Given the description of an element on the screen output the (x, y) to click on. 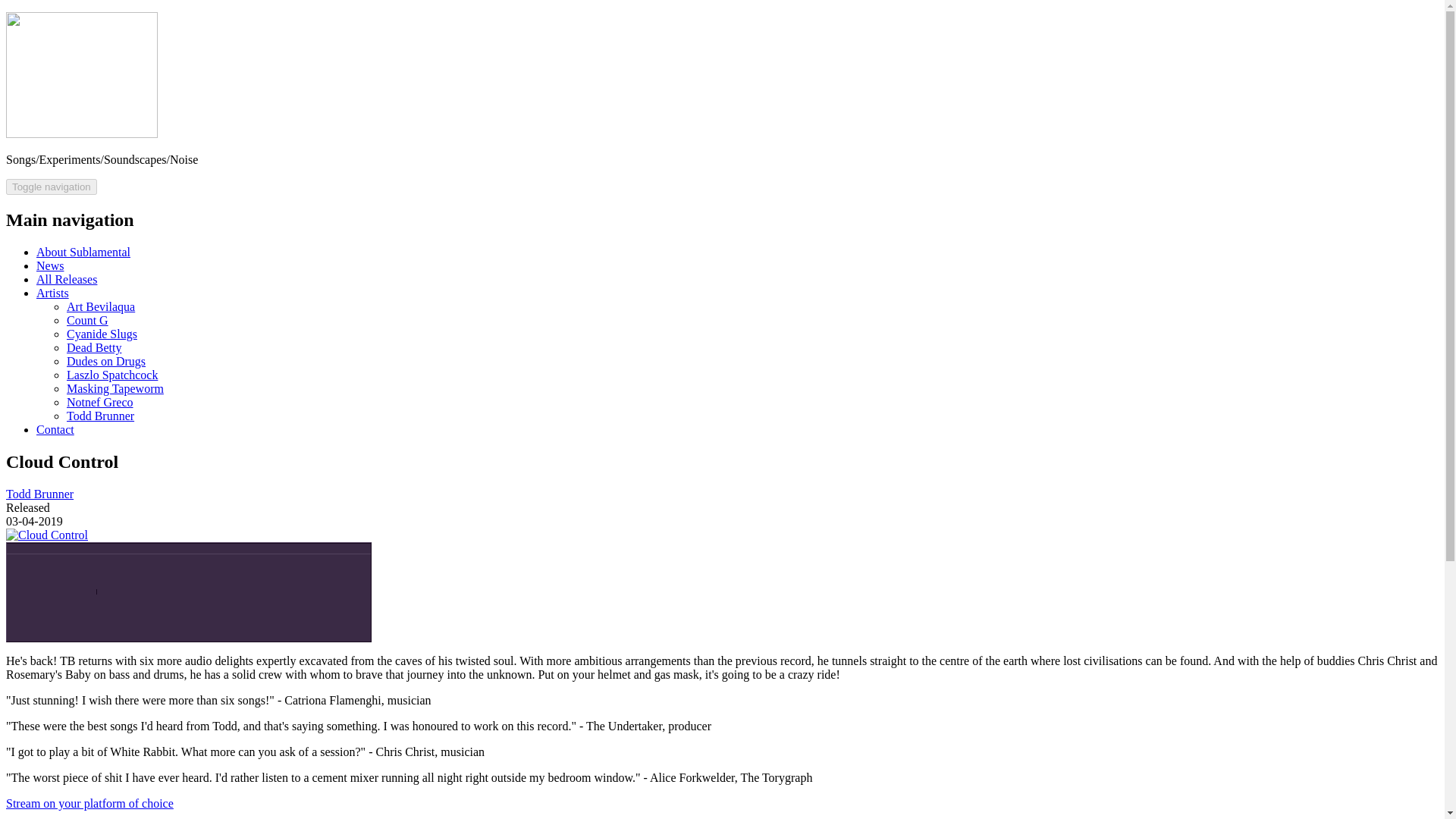
shuffle (313, 581)
stop (242, 579)
Cyanide Slugs (101, 333)
Laszlo Spatchcock (111, 374)
Masking Tapeworm (114, 388)
mute (27, 581)
previous (128, 579)
Dudes on Drugs (105, 360)
Todd Brunner (39, 493)
max volume (91, 581)
Cloud Control (46, 534)
Dead Betty (93, 347)
Stream on your platform of choice (89, 802)
Contact (55, 429)
